Given the description of an element on the screen output the (x, y) to click on. 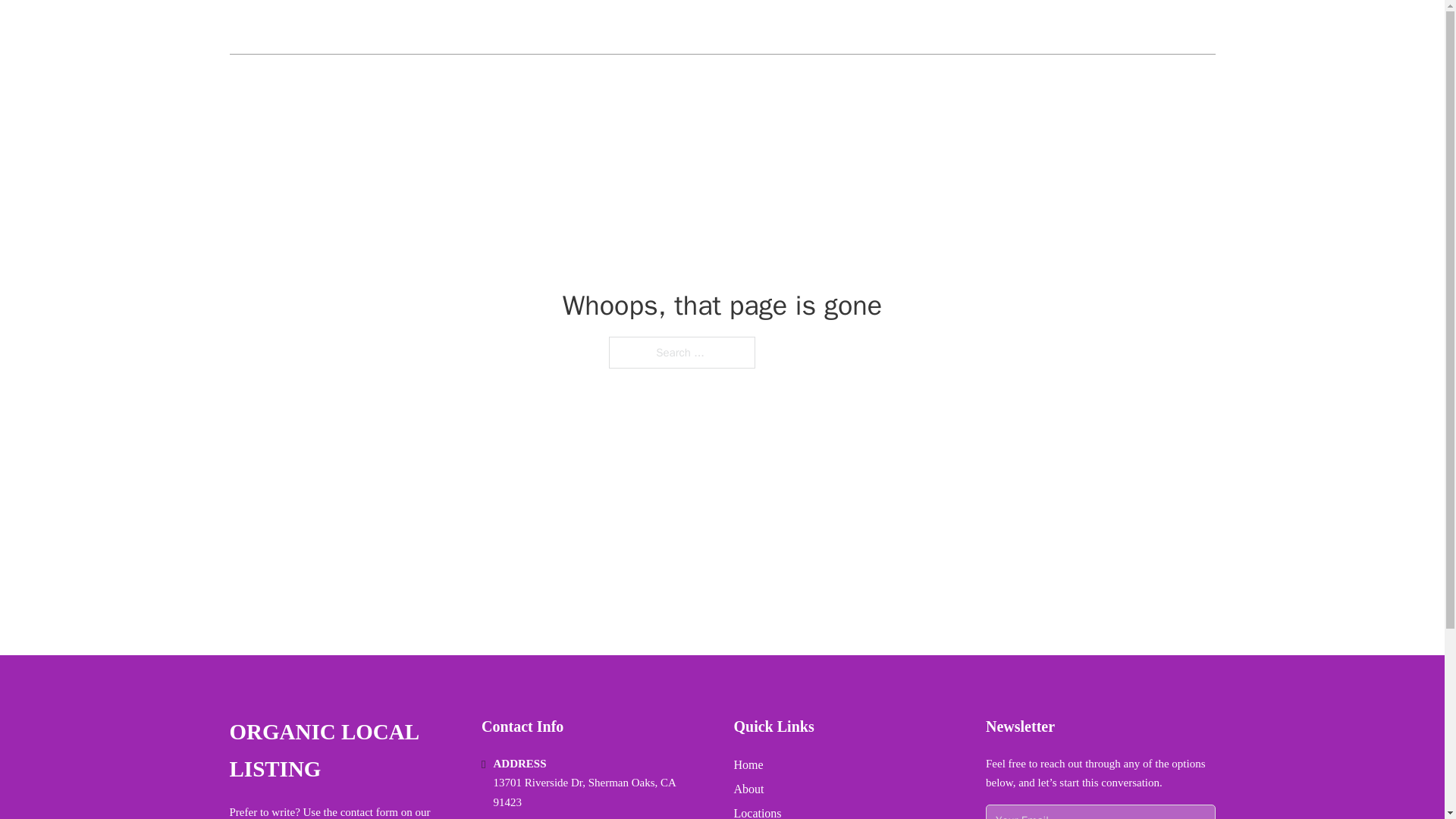
ORGANIC LOCAL LISTING (343, 750)
Locations (757, 811)
HOME (1032, 27)
Home (747, 764)
LOCATIONS (1105, 27)
About (748, 788)
ORGANIC LOCAL LISTING (346, 26)
